Given the description of an element on the screen output the (x, y) to click on. 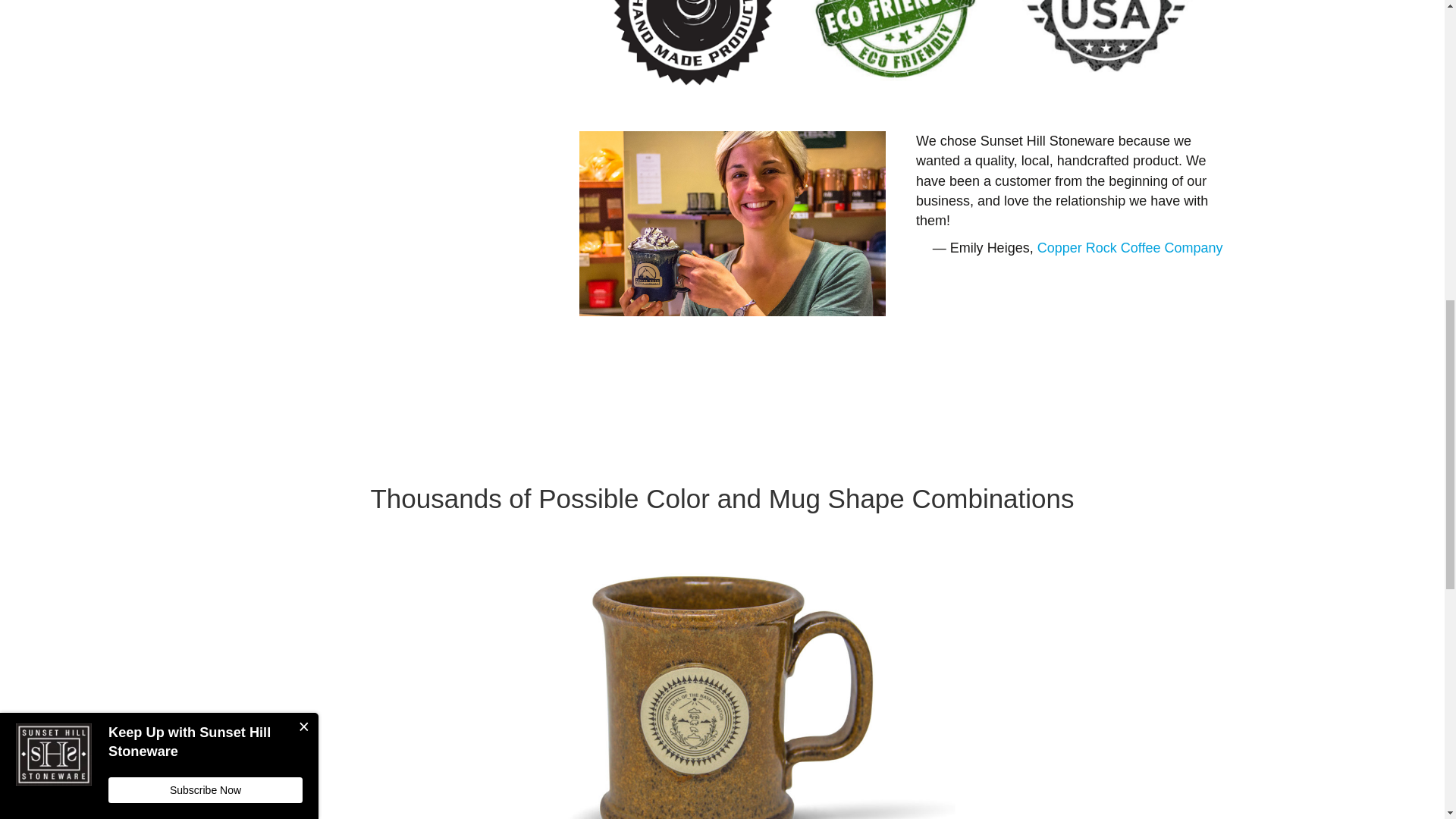
Features of SHS (901, 50)
Copper Rock Coffee Company (1129, 247)
